Given the description of an element on the screen output the (x, y) to click on. 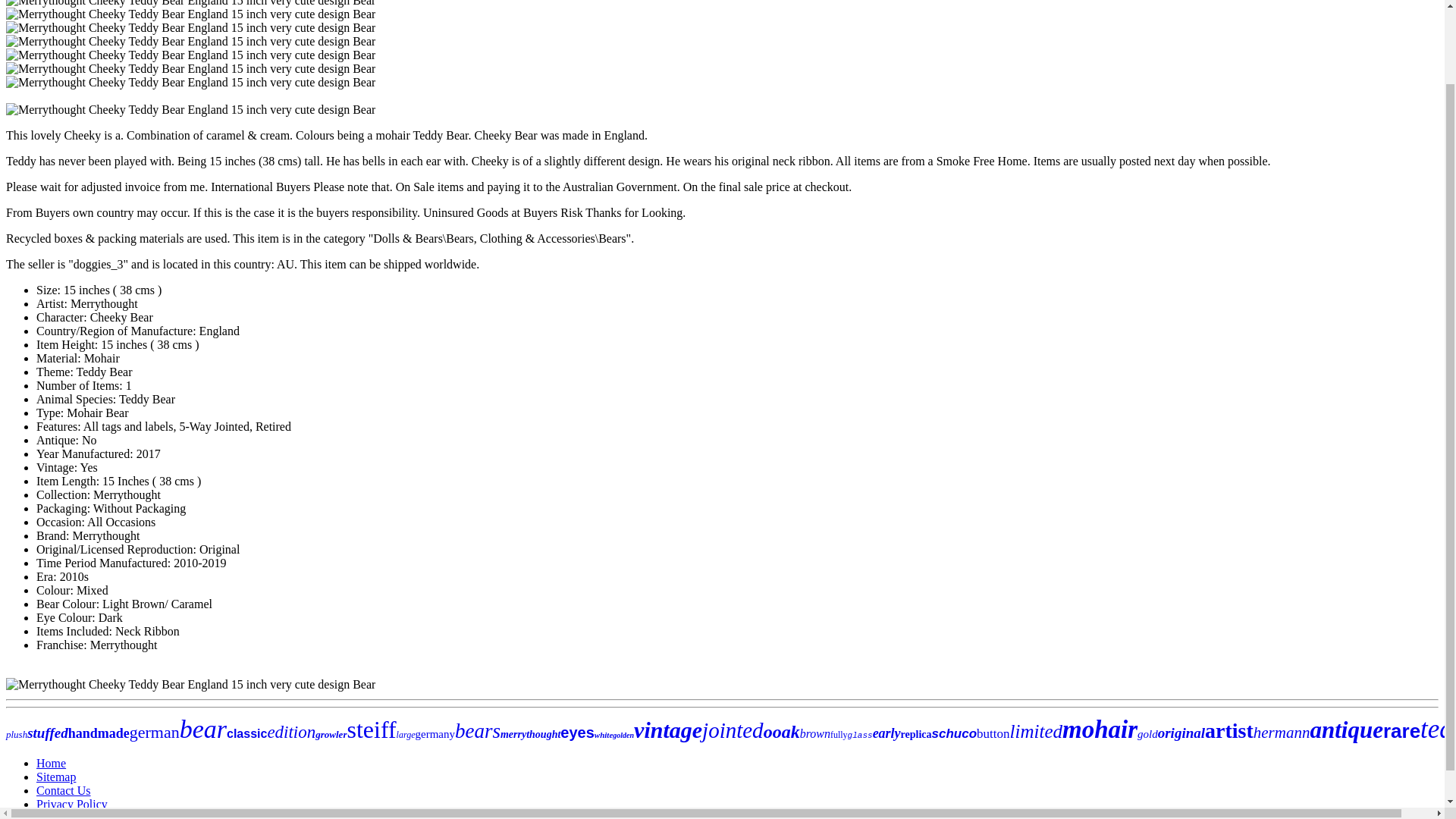
edition (290, 732)
white (603, 734)
brown (814, 733)
german (154, 732)
merrythought (530, 734)
vintage (667, 729)
ooak (780, 731)
fully (838, 734)
